Given the description of an element on the screen output the (x, y) to click on. 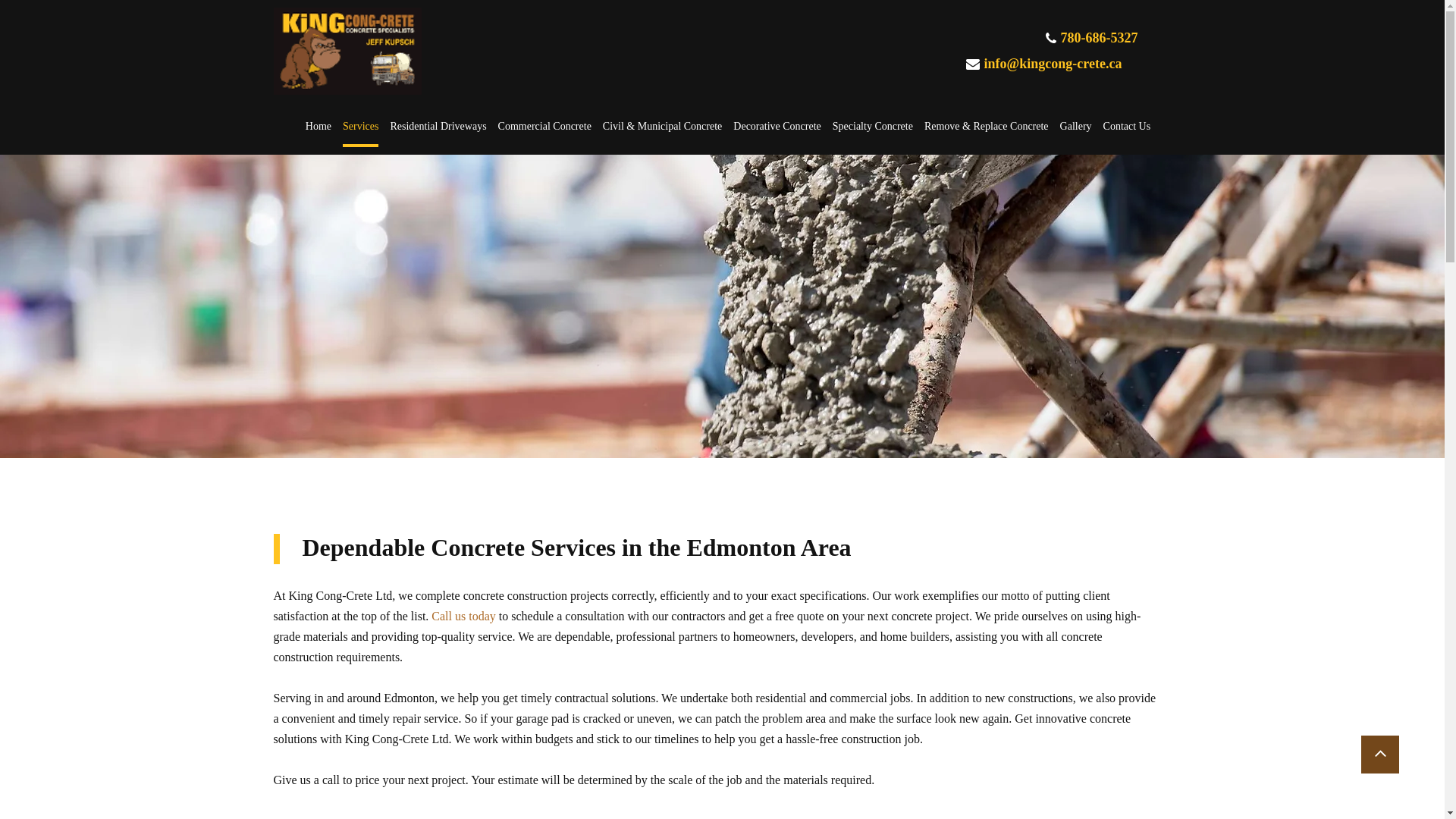
Contact Us (1127, 132)
Residential Driveways (438, 132)
Commercial Concrete (544, 132)
Decorative Concrete (777, 132)
Gallery (1075, 132)
Specialty Concrete (872, 132)
780-686-5327 (1098, 40)
Call us today (462, 617)
Services (360, 132)
